Given the description of an element on the screen output the (x, y) to click on. 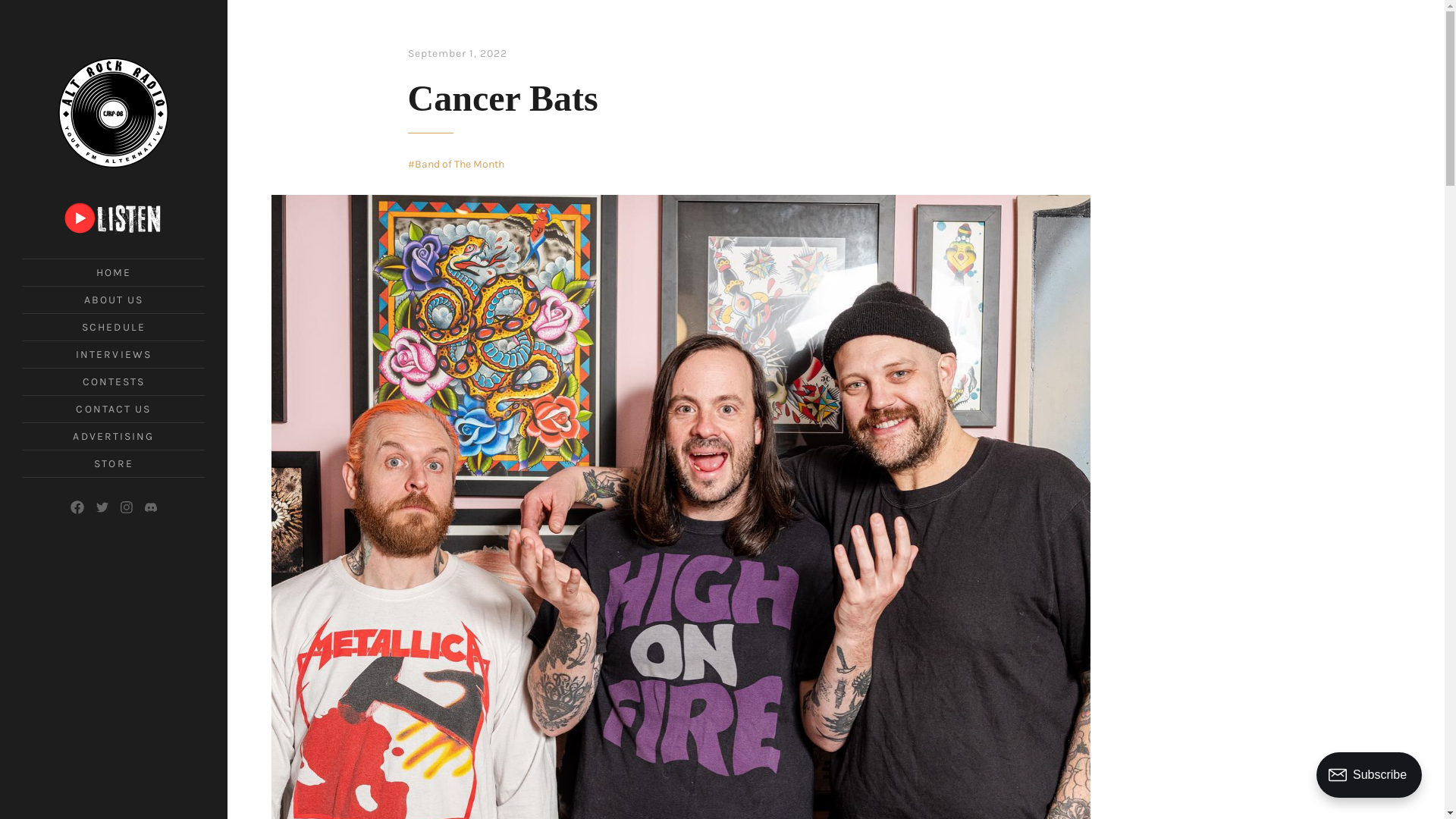
SCHEDULE Element type: text (113, 326)
ABOUT US Element type: text (114, 299)
CONTESTS Element type: text (113, 381)
STORE Element type: text (113, 463)
HOME Element type: text (113, 272)
ADVERTISING Element type: text (112, 435)
Band of The Month Element type: text (455, 164)
CONTACT US Element type: text (112, 408)
INTERVIEWS Element type: text (113, 354)
